Given the description of an element on the screen output the (x, y) to click on. 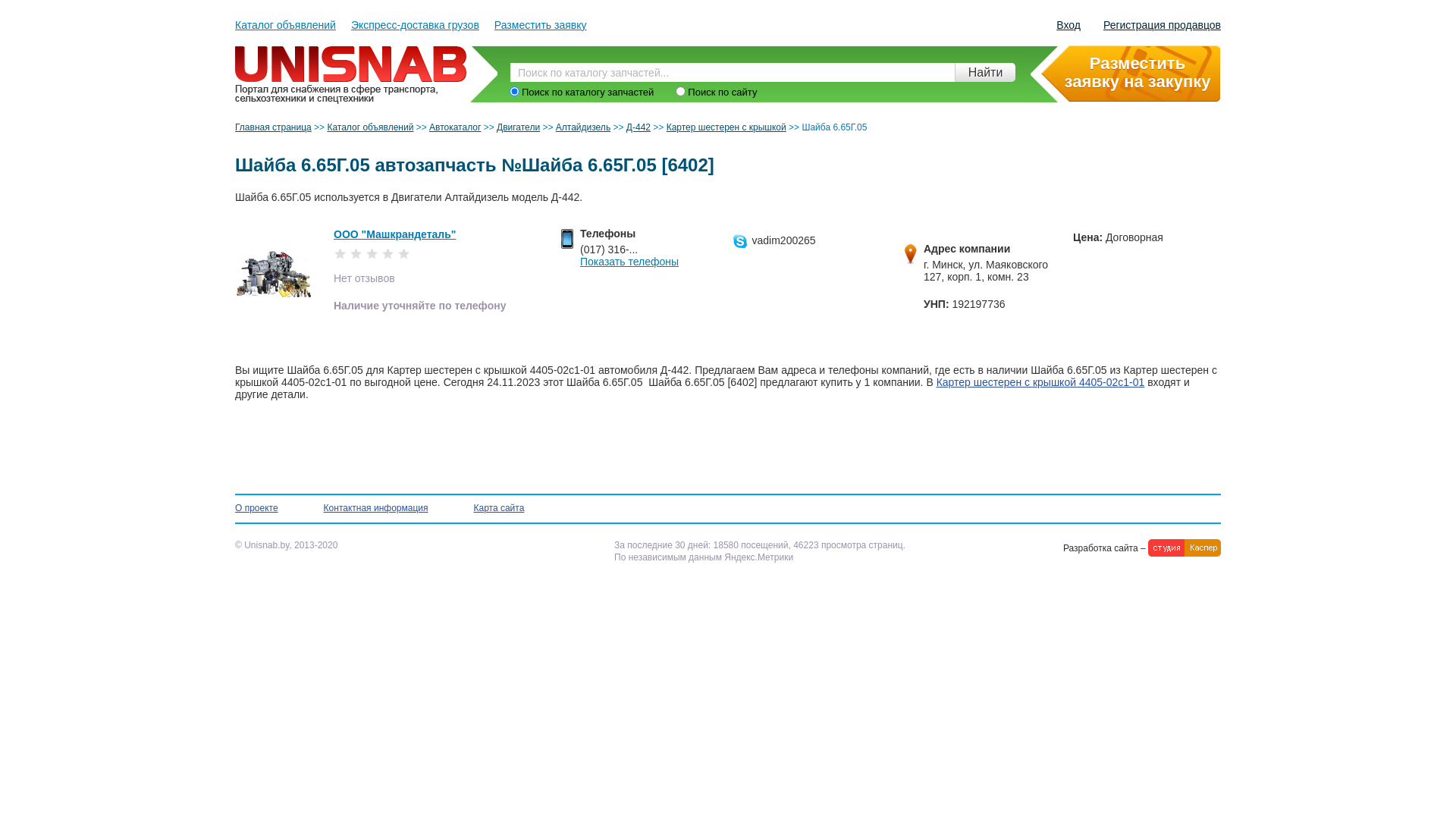
Unisnab Element type: hover (352, 50)
